Given the description of an element on the screen output the (x, y) to click on. 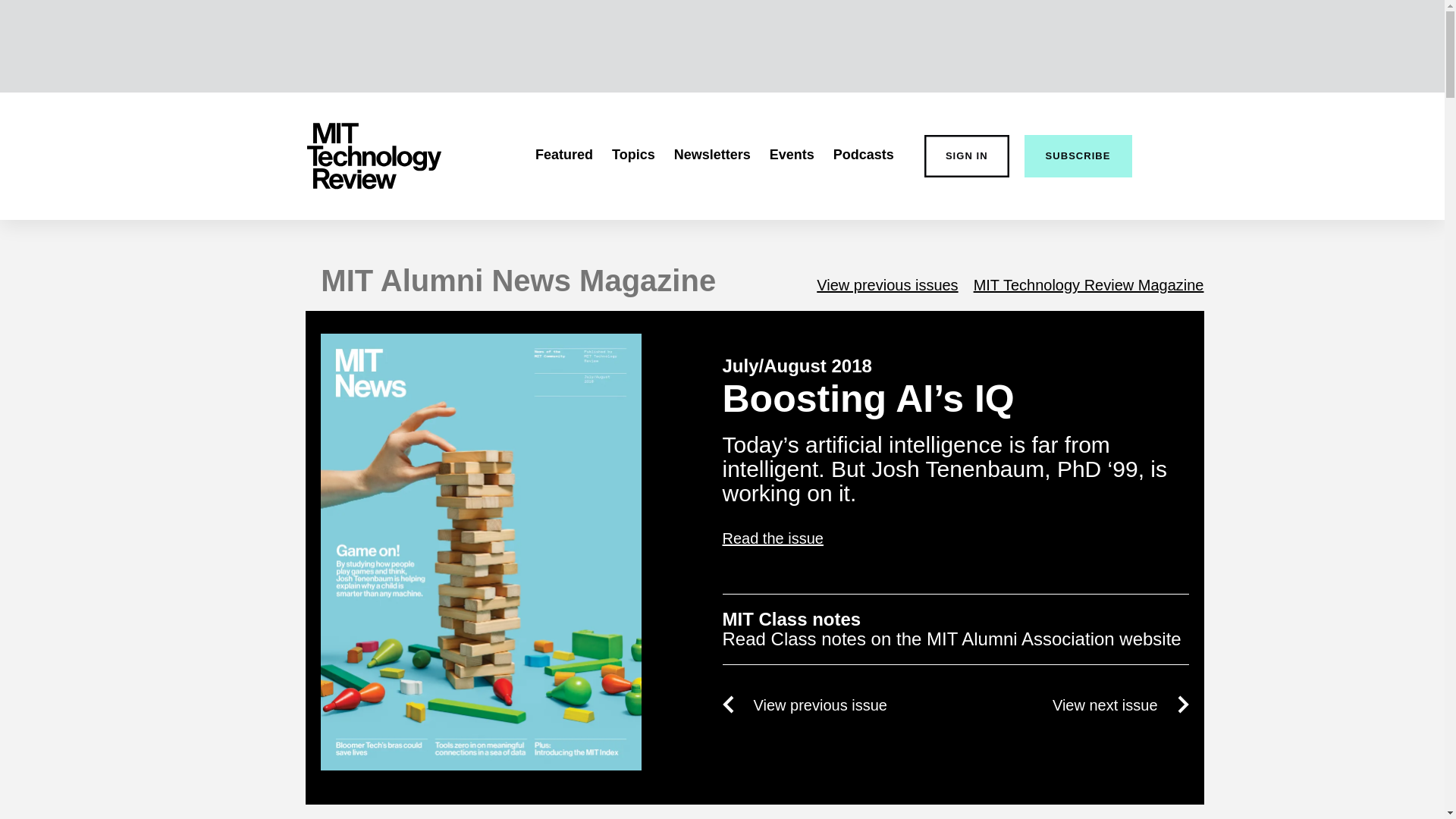
SIGN IN (966, 156)
View previous issue (804, 704)
MIT Technology Review (373, 155)
Newsletters (712, 154)
View previous issues (887, 284)
Read the issue (955, 537)
Featured (563, 154)
Topics (633, 154)
SUBSCRIBE (1078, 156)
View next issue (1120, 704)
